Given the description of an element on the screen output the (x, y) to click on. 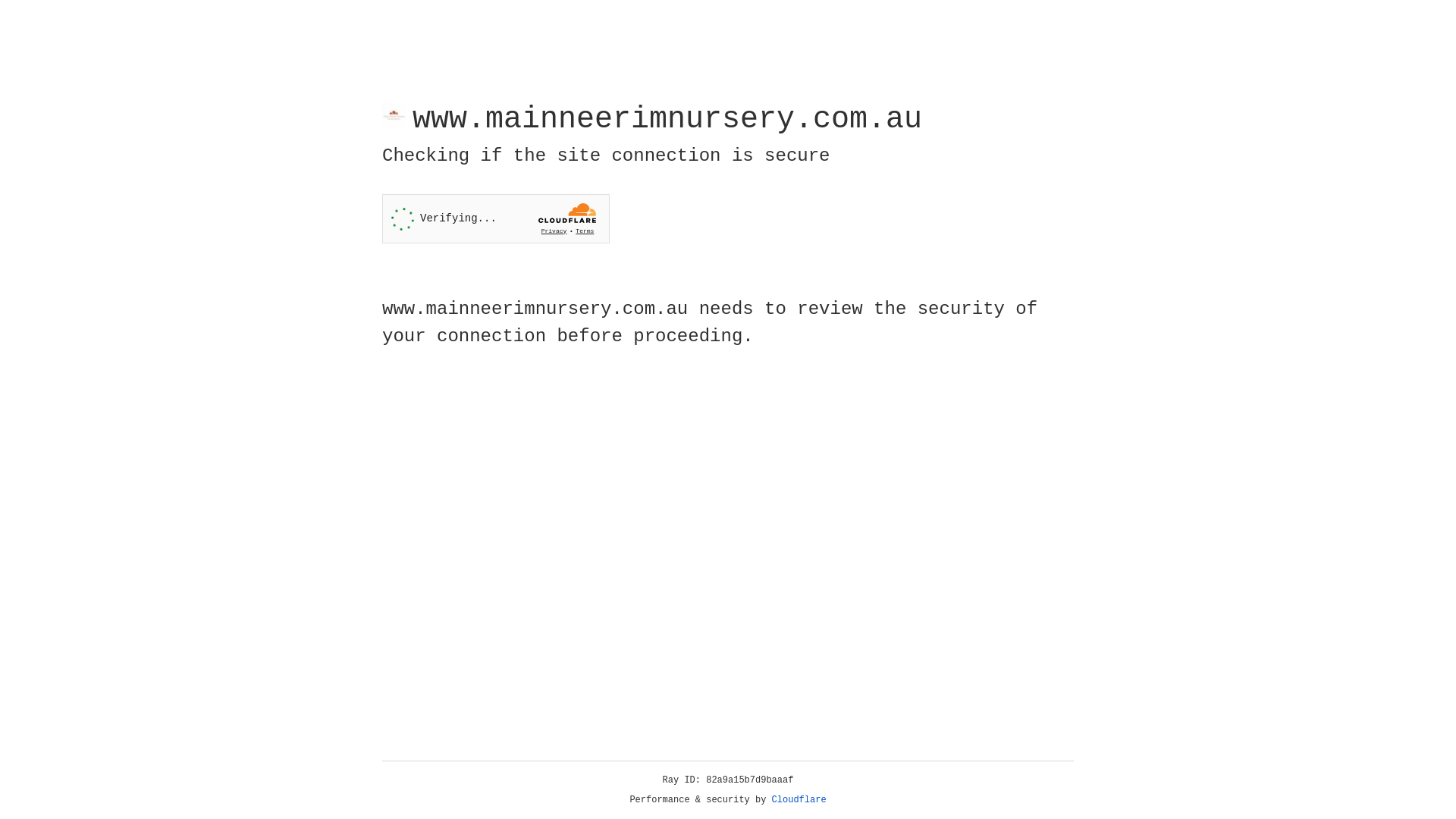
Cloudflare Element type: text (798, 799)
Widget containing a Cloudflare security challenge Element type: hover (495, 218)
